Given the description of an element on the screen output the (x, y) to click on. 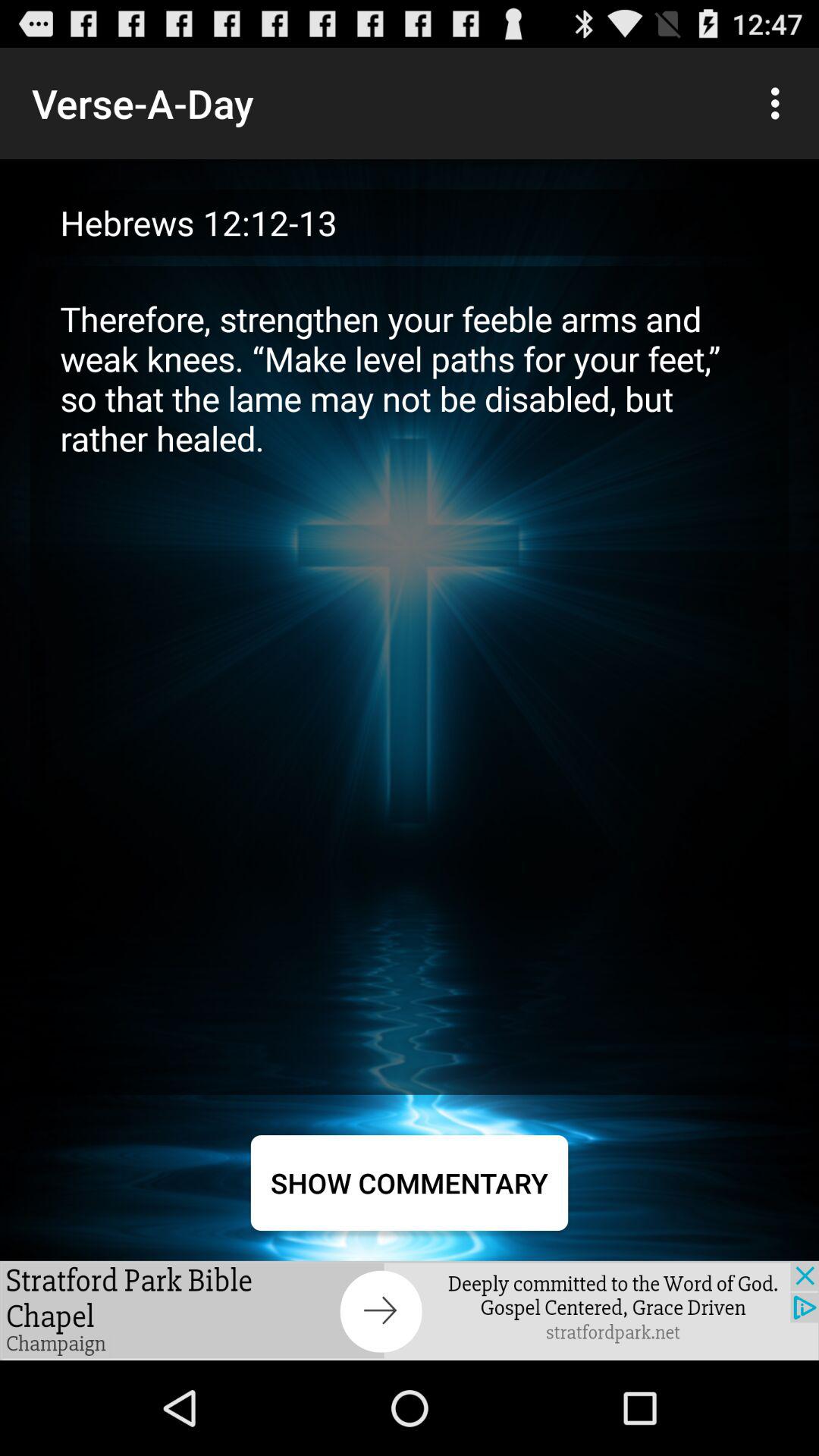
tap item above the show commentary item (409, 680)
